Given the description of an element on the screen output the (x, y) to click on. 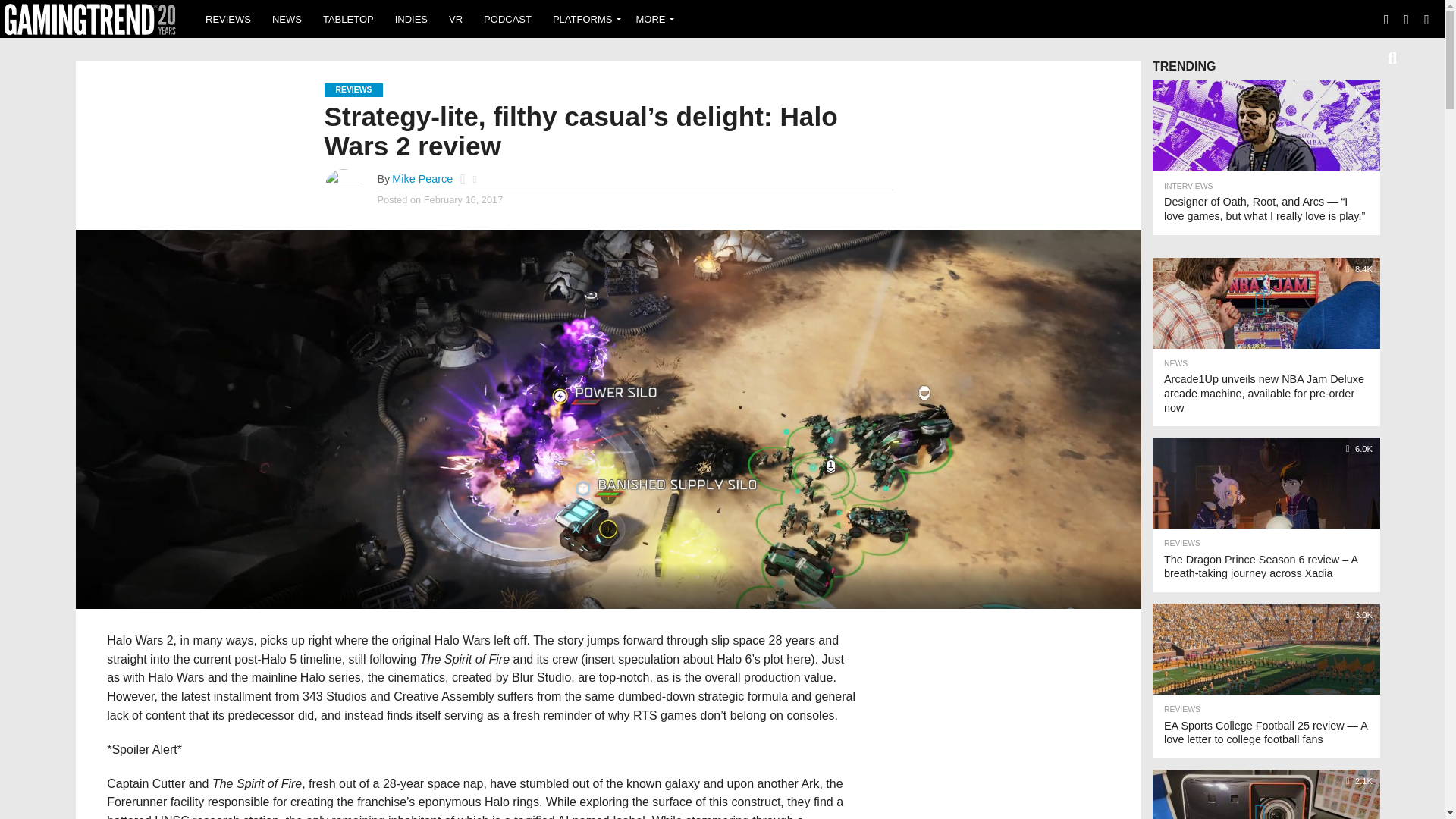
TABLETOP (348, 18)
NEWS (287, 18)
REVIEWS (228, 18)
INDIES (411, 18)
